Given the description of an element on the screen output the (x, y) to click on. 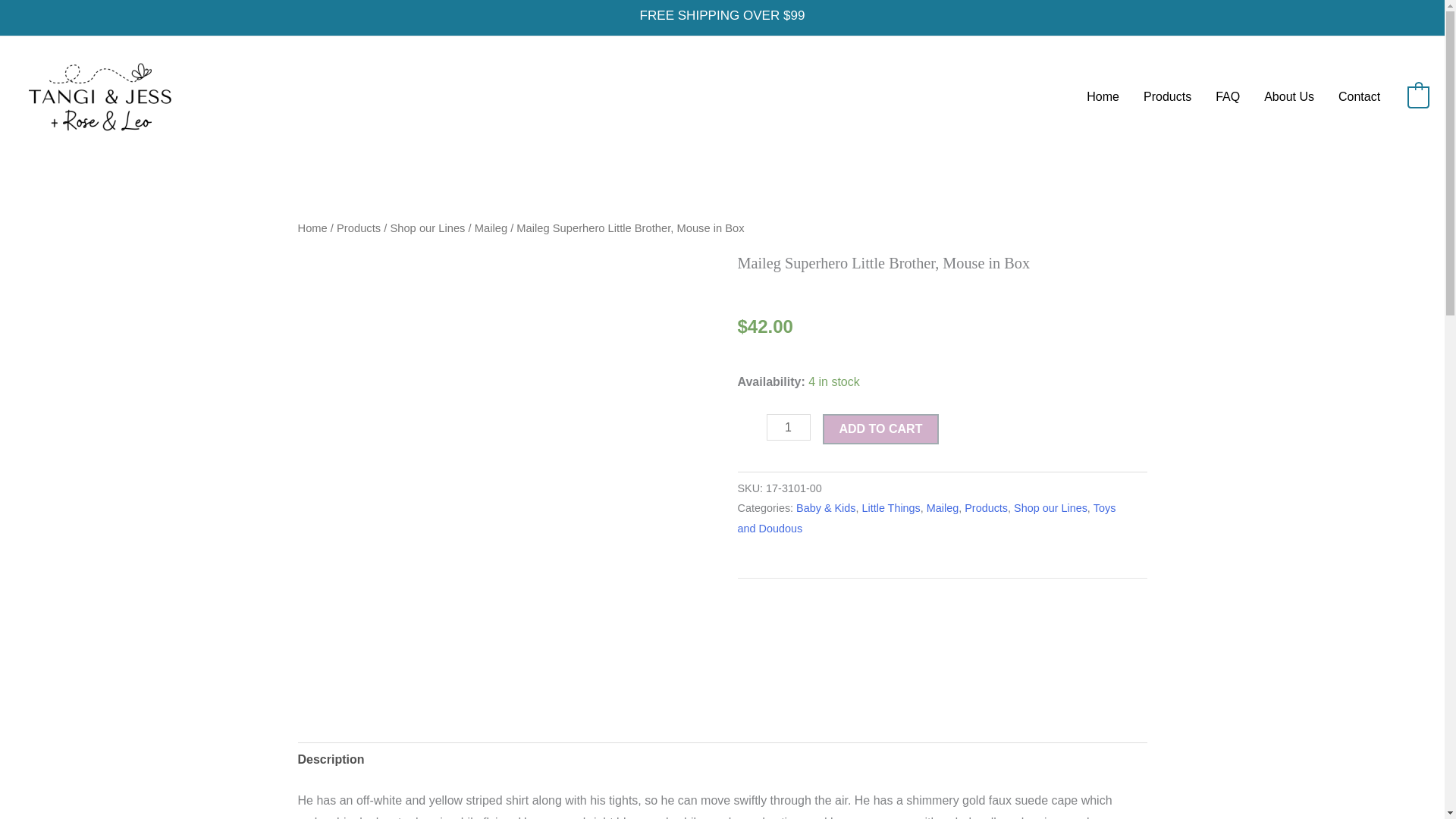
About Us (1289, 96)
Products (358, 227)
Products (985, 508)
Little Things (890, 508)
Contact (1358, 96)
Toys and Doudous (925, 518)
1 (787, 427)
FAQ (1228, 96)
Home (311, 227)
Maileg (942, 508)
